Given the description of an element on the screen output the (x, y) to click on. 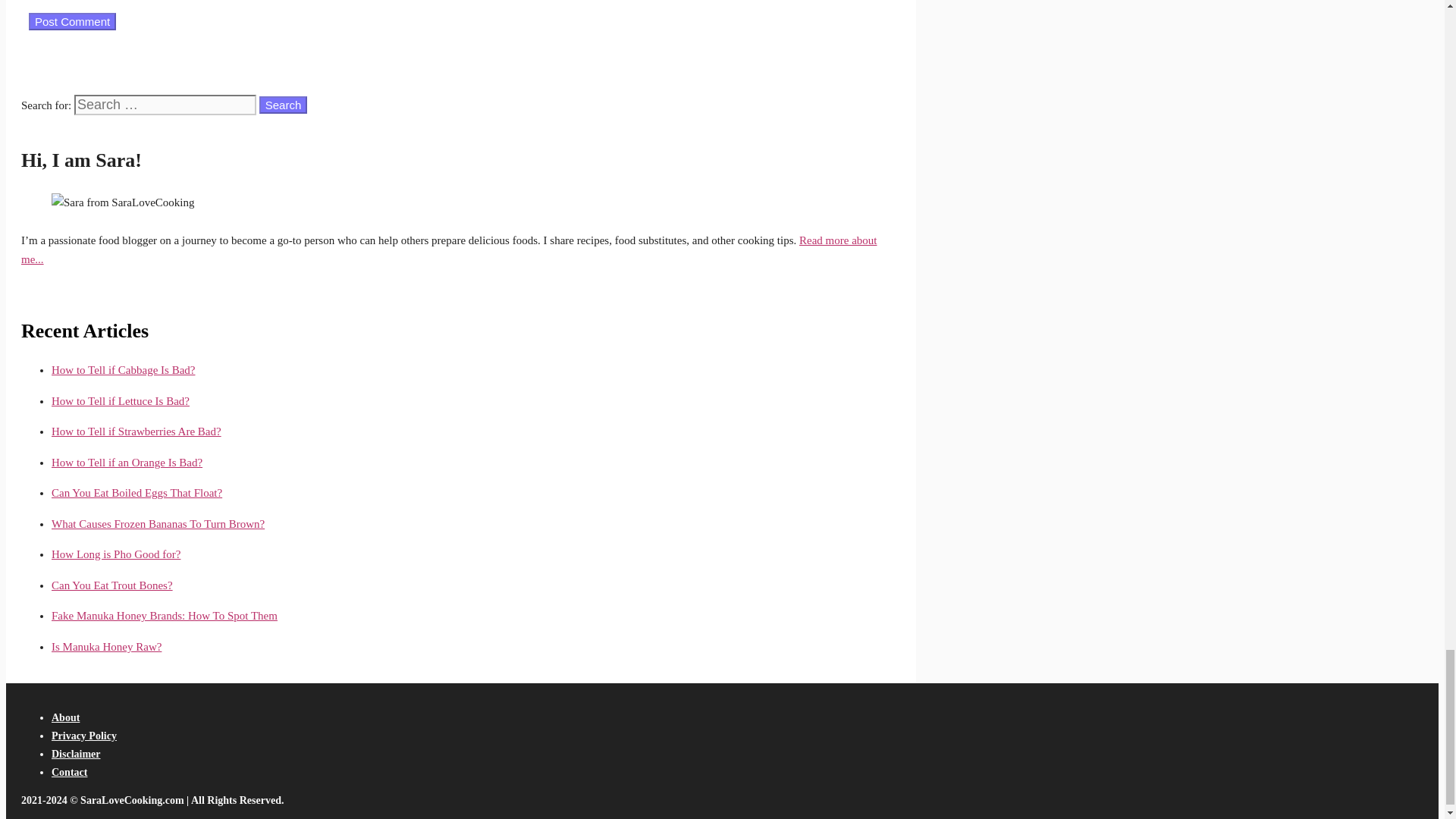
Search for: (165, 105)
Post Comment (72, 21)
Search (283, 104)
Search (283, 104)
